Given the description of an element on the screen output the (x, y) to click on. 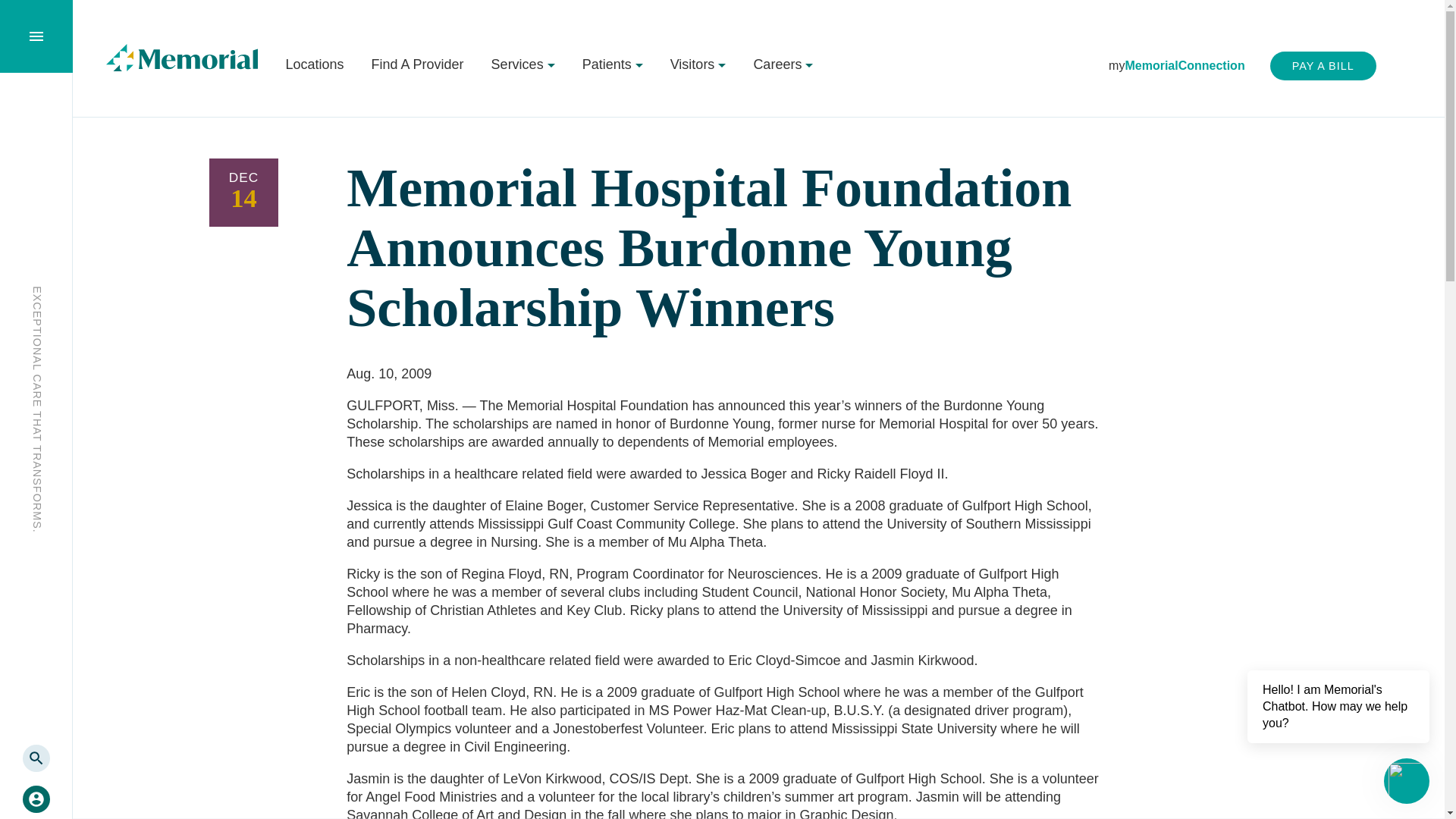
Search (36, 758)
EXCEPTIONAL CARE THAT TRANSFORMS. (152, 292)
